Given the description of an element on the screen output the (x, y) to click on. 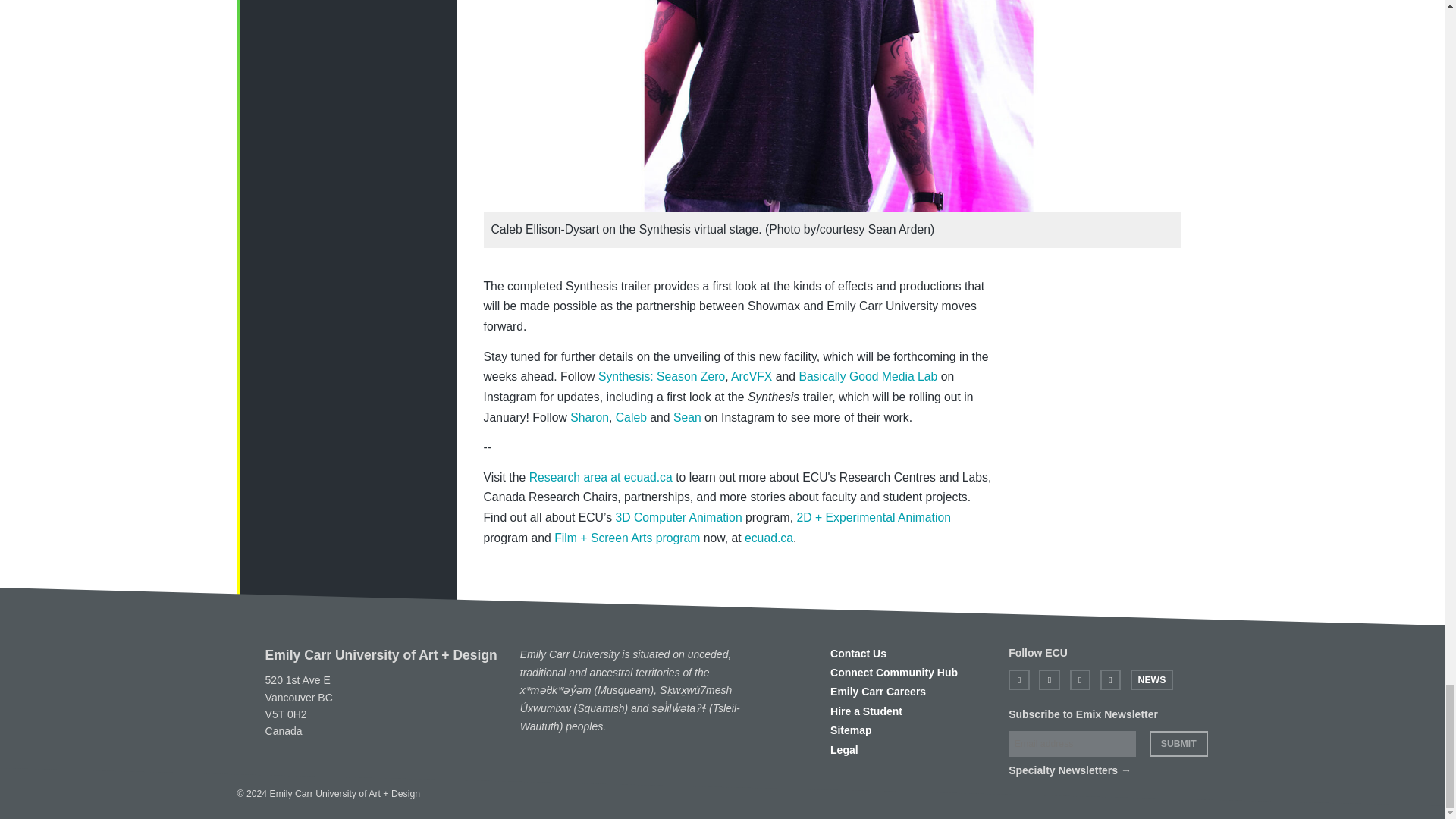
Submit (1179, 743)
News (1152, 680)
